Given the description of an element on the screen output the (x, y) to click on. 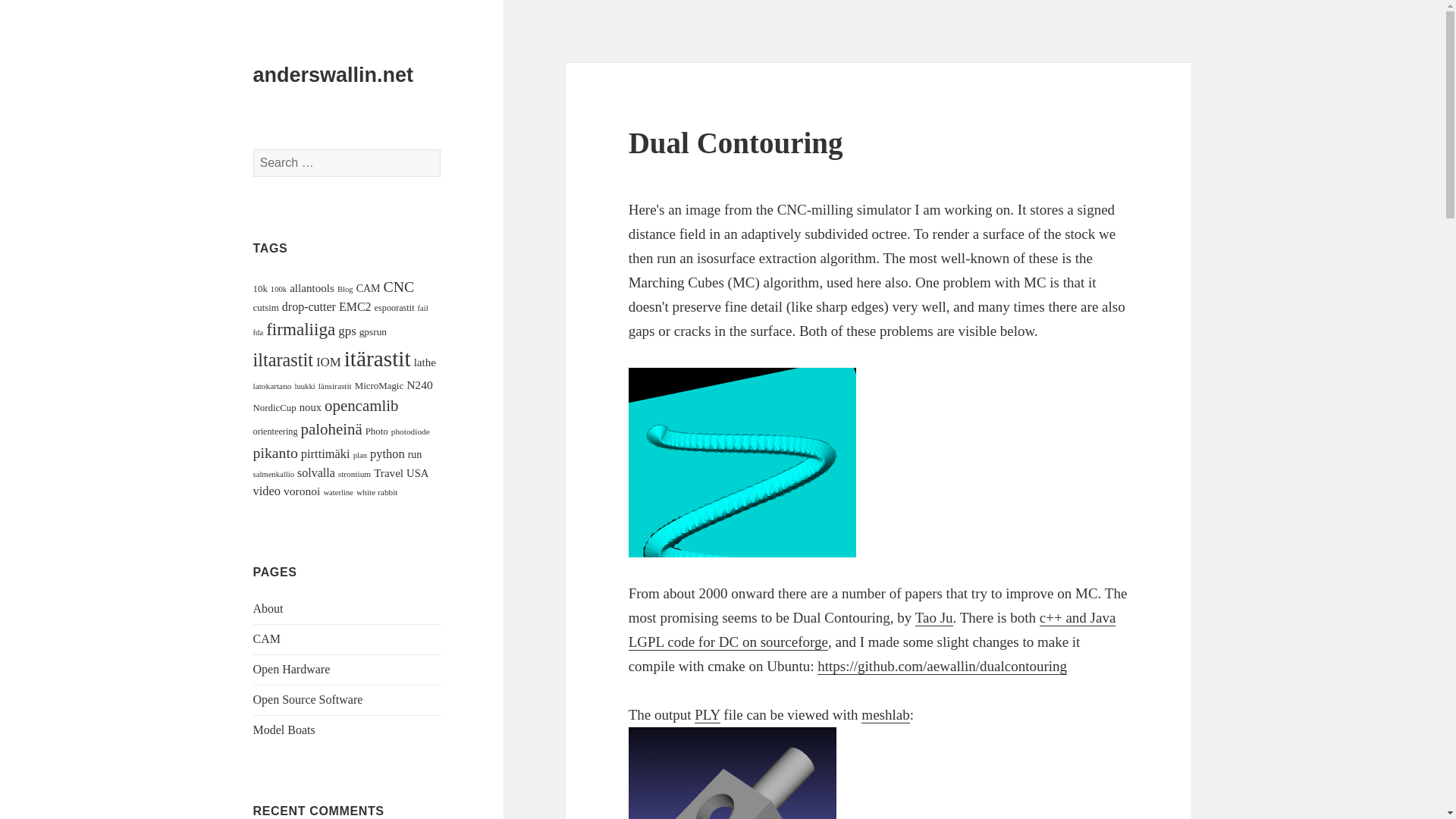
100k (278, 289)
latokartano (272, 385)
gps (346, 330)
iltarastit (283, 359)
pikanto (275, 452)
fail (422, 307)
cutsim (266, 307)
orienteering (275, 430)
espoorastit (394, 307)
